Given the description of an element on the screen output the (x, y) to click on. 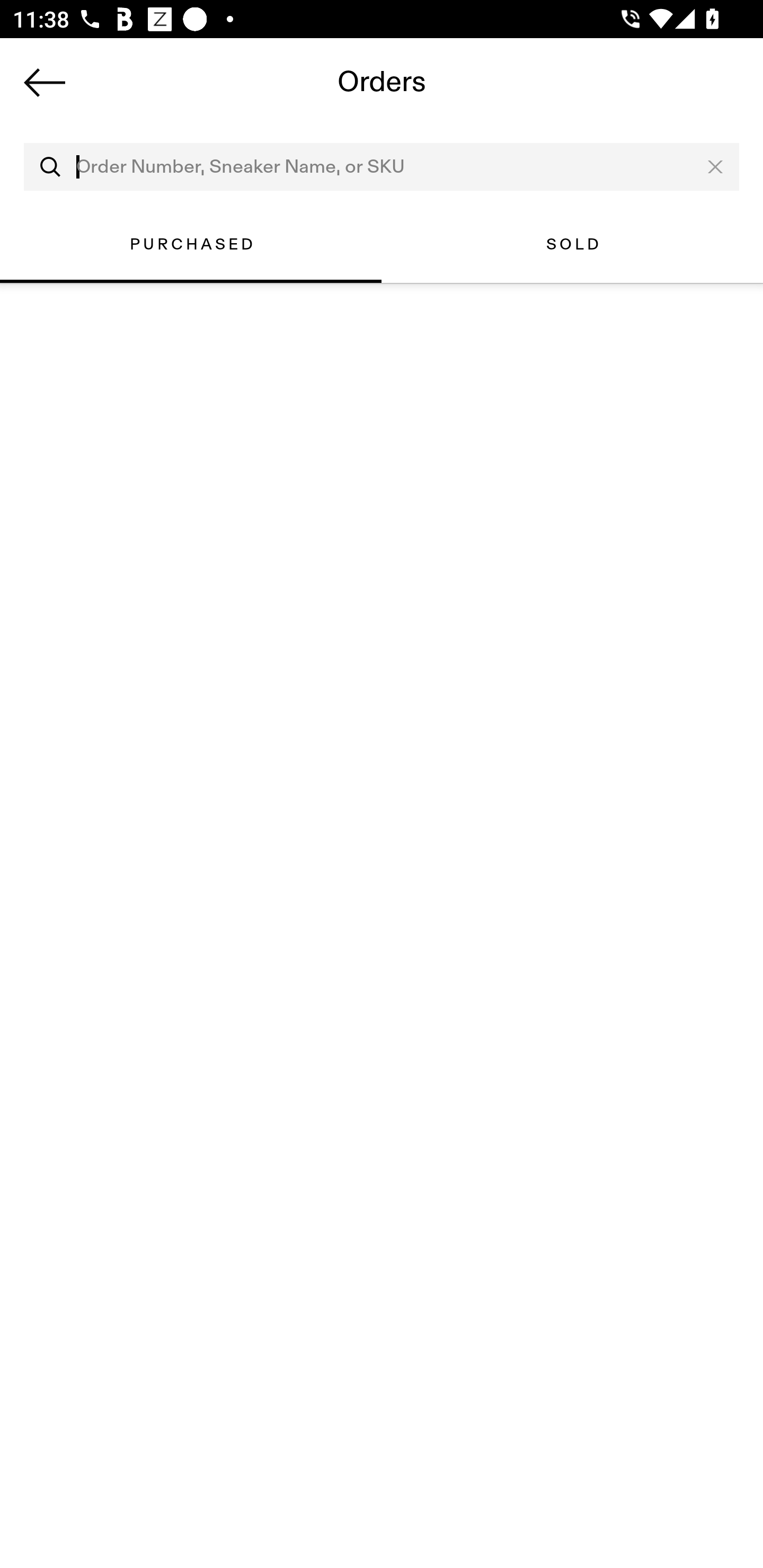
Navigate up (44, 82)
Order Number, Sneaker Name, or SKU (381, 166)
SOLD (572, 244)
